Given the description of an element on the screen output the (x, y) to click on. 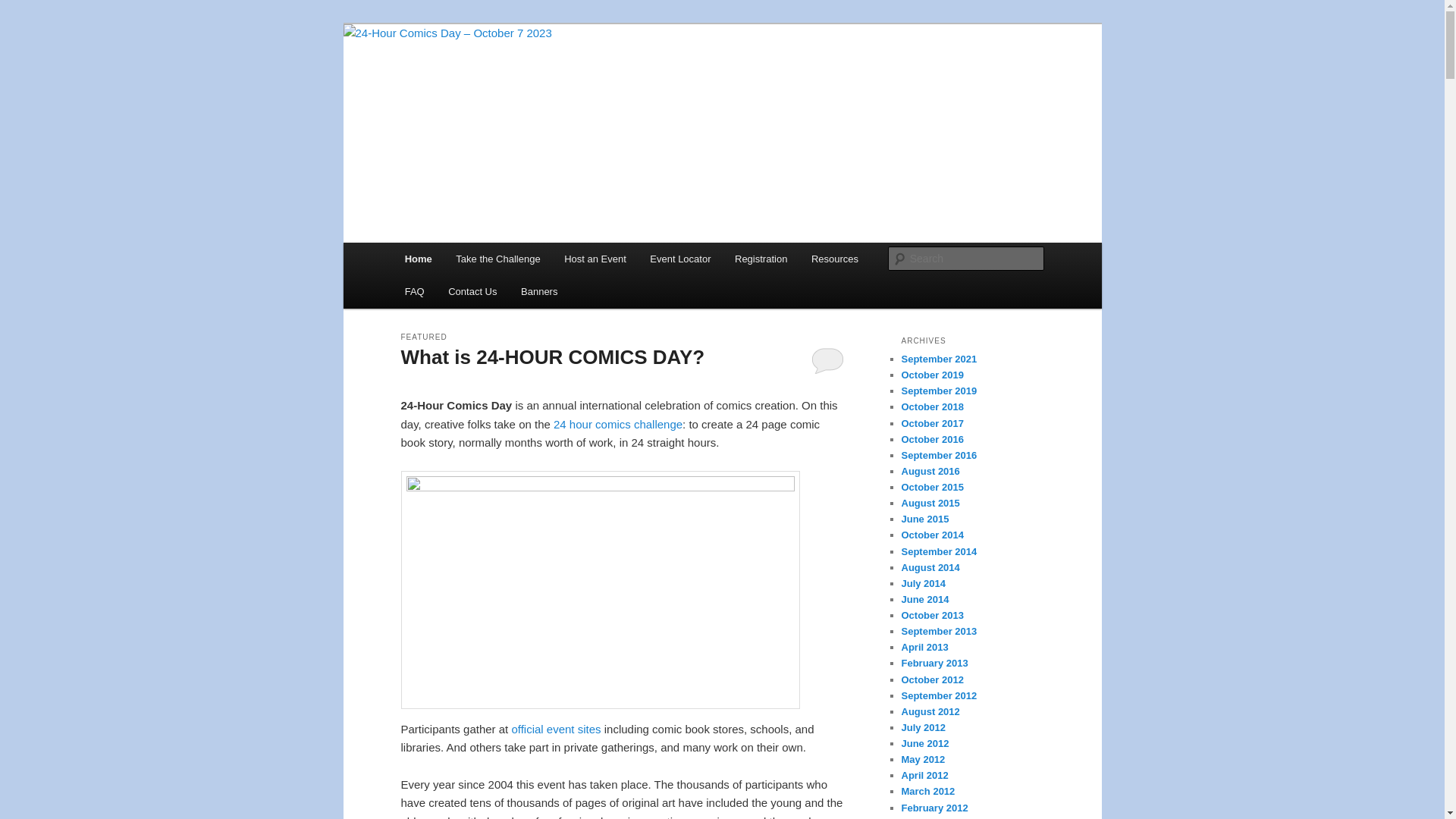
April 2012 Element type: text (923, 775)
August 2015 Element type: text (929, 502)
August 2016 Element type: text (929, 470)
marco Element type: text (552, 384)
Skip to primary content Element type: text (22, 22)
FAQ Element type: text (414, 291)
Resources Element type: text (834, 258)
Banners Element type: text (538, 291)
February 2013 Element type: text (933, 662)
October 2012 Element type: text (931, 679)
June 2015 Element type: text (924, 518)
Contact Us Element type: text (472, 291)
October 2013 Element type: text (931, 615)
official event sites Element type: text (555, 728)
Event Locator Element type: text (680, 258)
June 2014 Element type: text (924, 599)
September 2016 Element type: text (938, 455)
Registration Element type: text (760, 258)
February 2012 Element type: text (933, 807)
Home Element type: text (418, 258)
April 2013 Element type: text (923, 646)
Host an Event Element type: text (594, 258)
August 2012 Element type: text (929, 711)
October 2016 Element type: text (931, 439)
September 2021 Element type: text (938, 358)
June 2012 Element type: text (924, 743)
October 2014 Element type: text (931, 534)
March 2012 Element type: text (927, 791)
October 2015 Element type: text (931, 486)
July 2012 Element type: text (922, 727)
24 hour comics challenge Element type: text (617, 423)
May 2012 Element type: text (922, 759)
Take the Challenge Element type: text (498, 258)
September 2013 Element type: text (938, 631)
October 2019 Element type: text (931, 374)
August 2014 Element type: text (929, 567)
September 2012 Element type: text (938, 695)
September 3, 2021 Element type: text (484, 384)
October 2017 Element type: text (931, 423)
October 2018 Element type: text (931, 406)
July 2014 Element type: text (922, 583)
September 2014 Element type: text (938, 551)
September 2019 Element type: text (938, 390)
Search Element type: text (24, 8)
What is 24-HOUR COMICS DAY? Element type: text (552, 356)
